Given the description of an element on the screen output the (x, y) to click on. 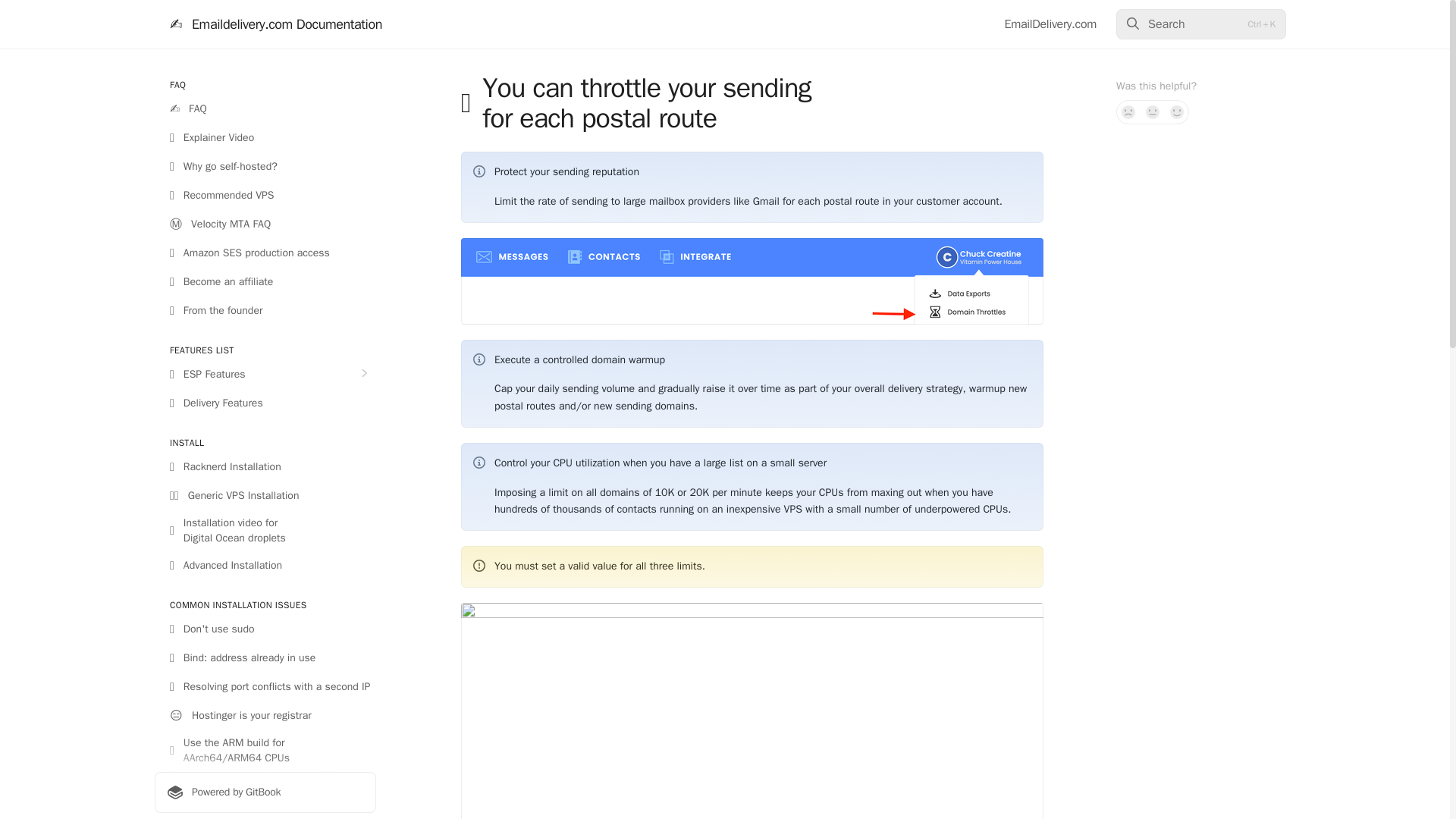
Not sure (1152, 111)
EmailDelivery.com (1050, 24)
Yes, it was! (1176, 111)
No (1128, 111)
